Given the description of an element on the screen output the (x, y) to click on. 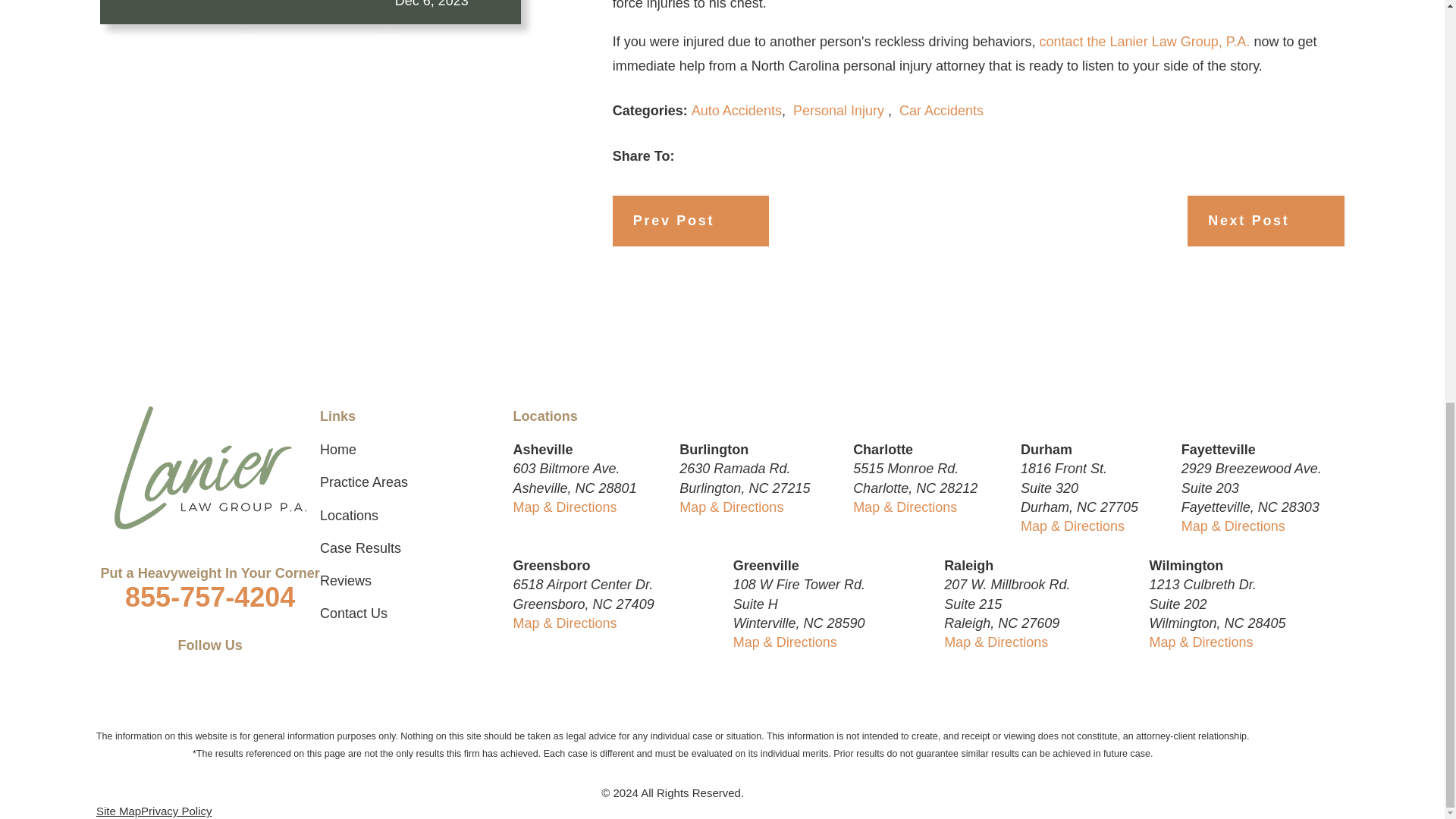
Contact Us (1144, 41)
Facebook (150, 665)
Home (209, 467)
Lanier Law Group, P.A. (210, 467)
